Given the description of an element on the screen output the (x, y) to click on. 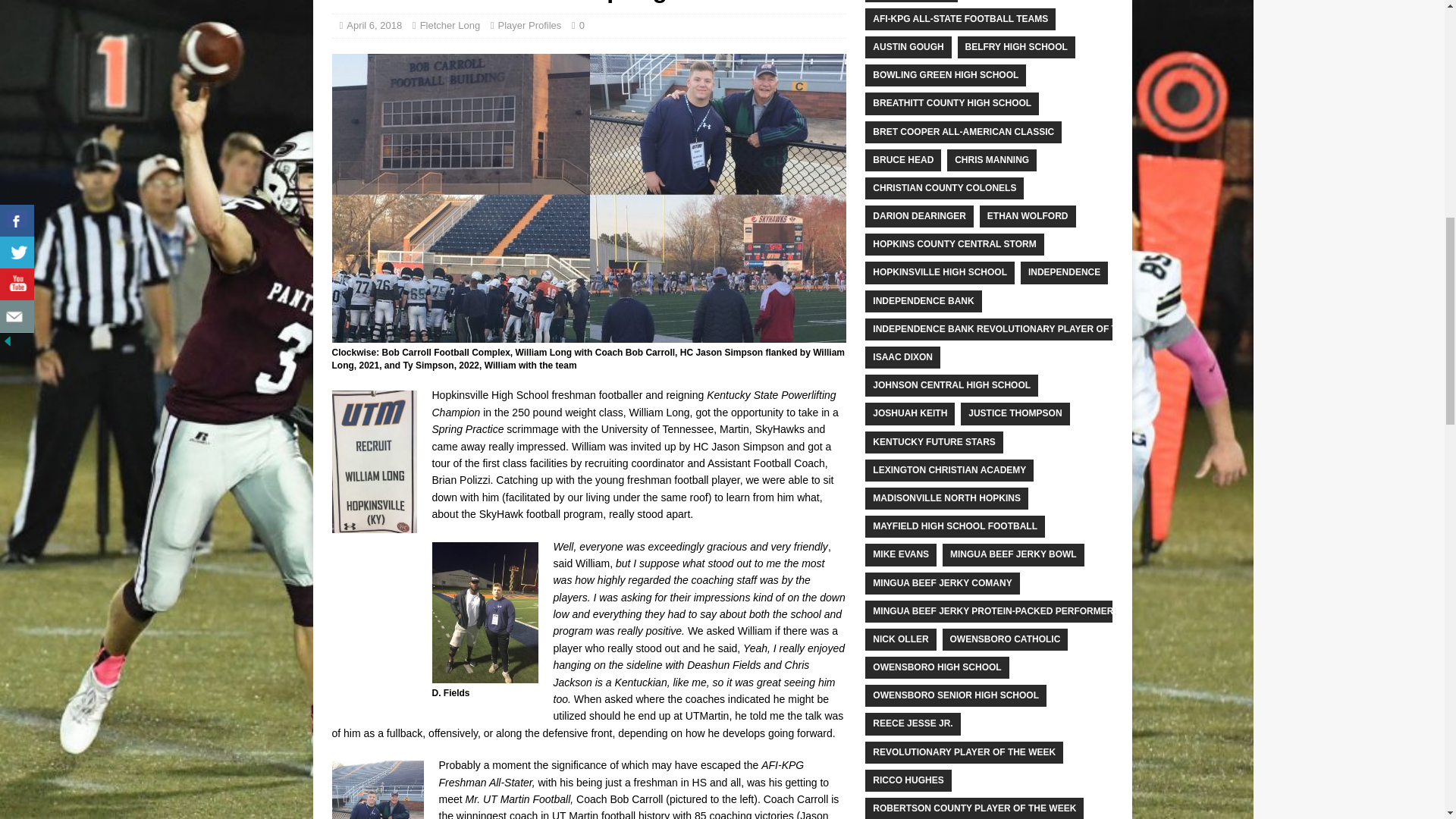
Fletcher Long (450, 25)
April 6, 2018 (373, 25)
Player Profiles (528, 25)
